Given the description of an element on the screen output the (x, y) to click on. 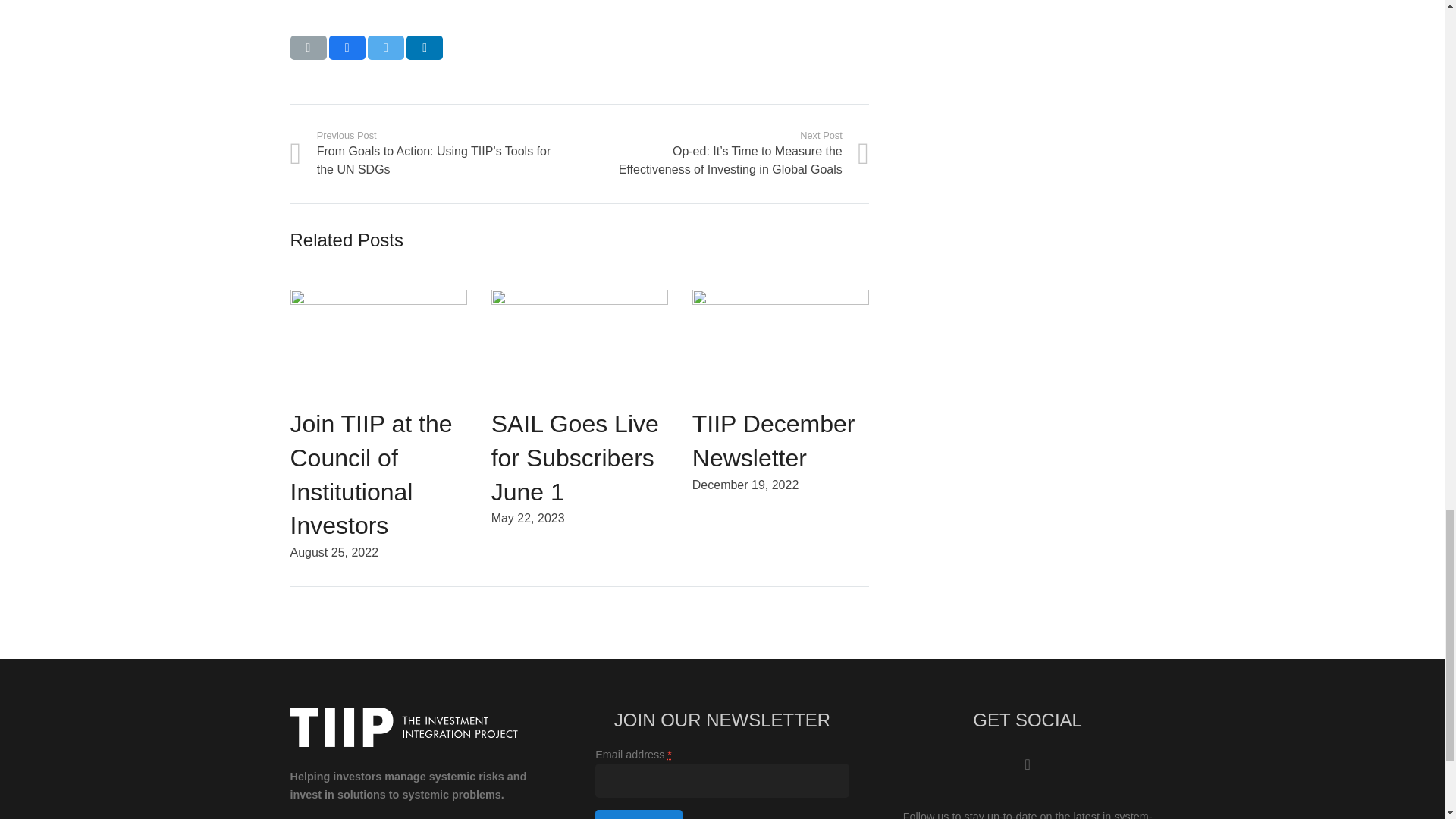
Join TIIP at the Council of Institutional Investors (370, 474)
SAIL Goes Live for Subscribers June 1 (575, 458)
Sign up (638, 814)
TIIP (402, 726)
Share this (424, 47)
Sign up (638, 814)
TIIP December Newsletter (774, 440)
Email this (307, 47)
LinkedIn (1027, 763)
Share this (347, 47)
